Given the description of an element on the screen output the (x, y) to click on. 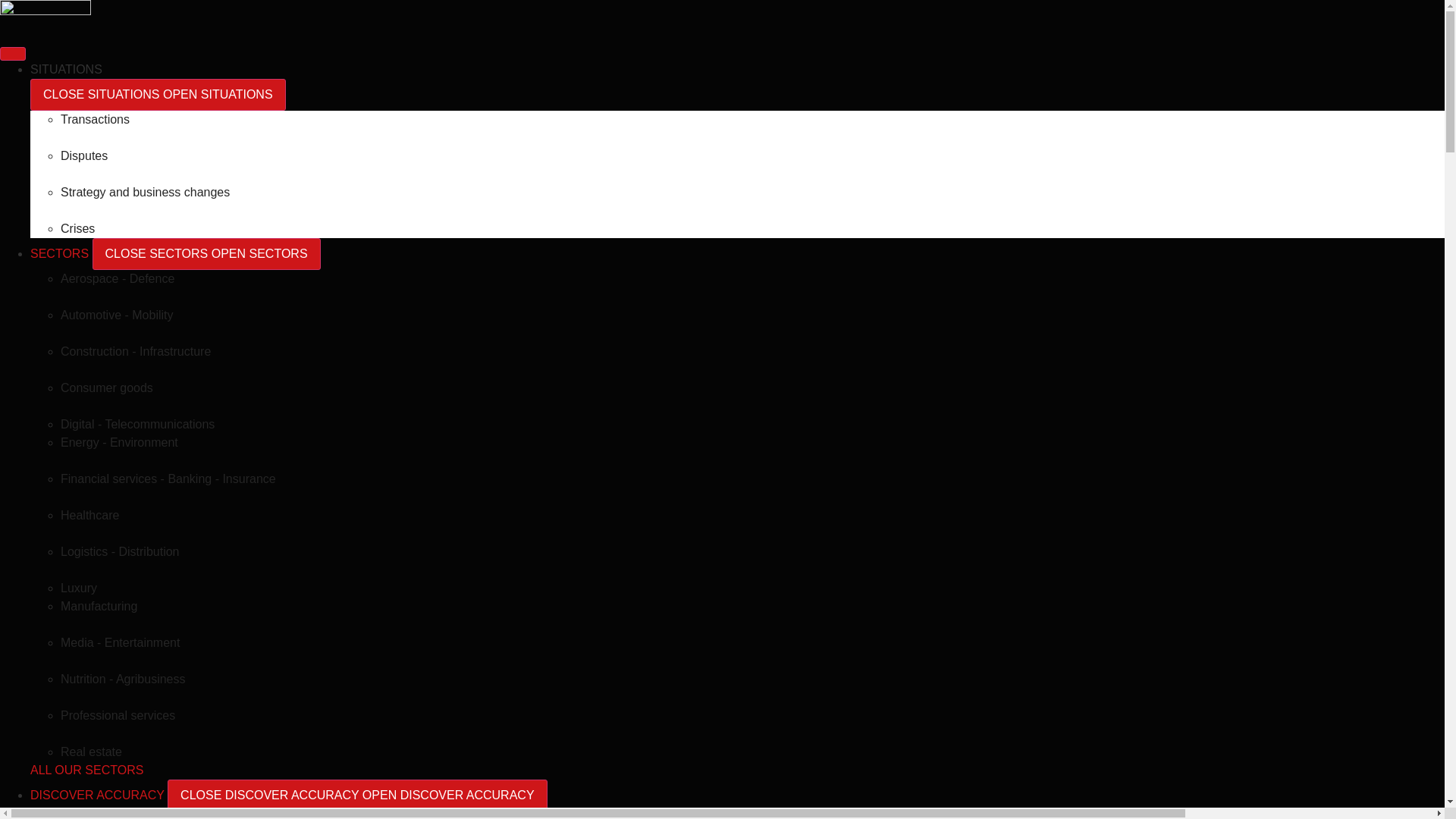
Nutrition - Agribusiness (123, 678)
Logistics - Distribution (120, 551)
Automotive - Mobility (117, 314)
DISCOVER ACCURACY (98, 794)
CLOSE SITUATIONS OPEN SITUATIONS (157, 94)
Luxury (79, 587)
CLOSE SECTORS OPEN SECTORS (206, 254)
Energy - Environment (119, 441)
Aerospace - Defence (117, 278)
Manufacturing (98, 605)
SECTORS (61, 253)
Professional services (117, 715)
ALL OUR SECTORS (86, 769)
Strategy and business changes (145, 192)
Transactions (95, 119)
